Given the description of an element on the screen output the (x, y) to click on. 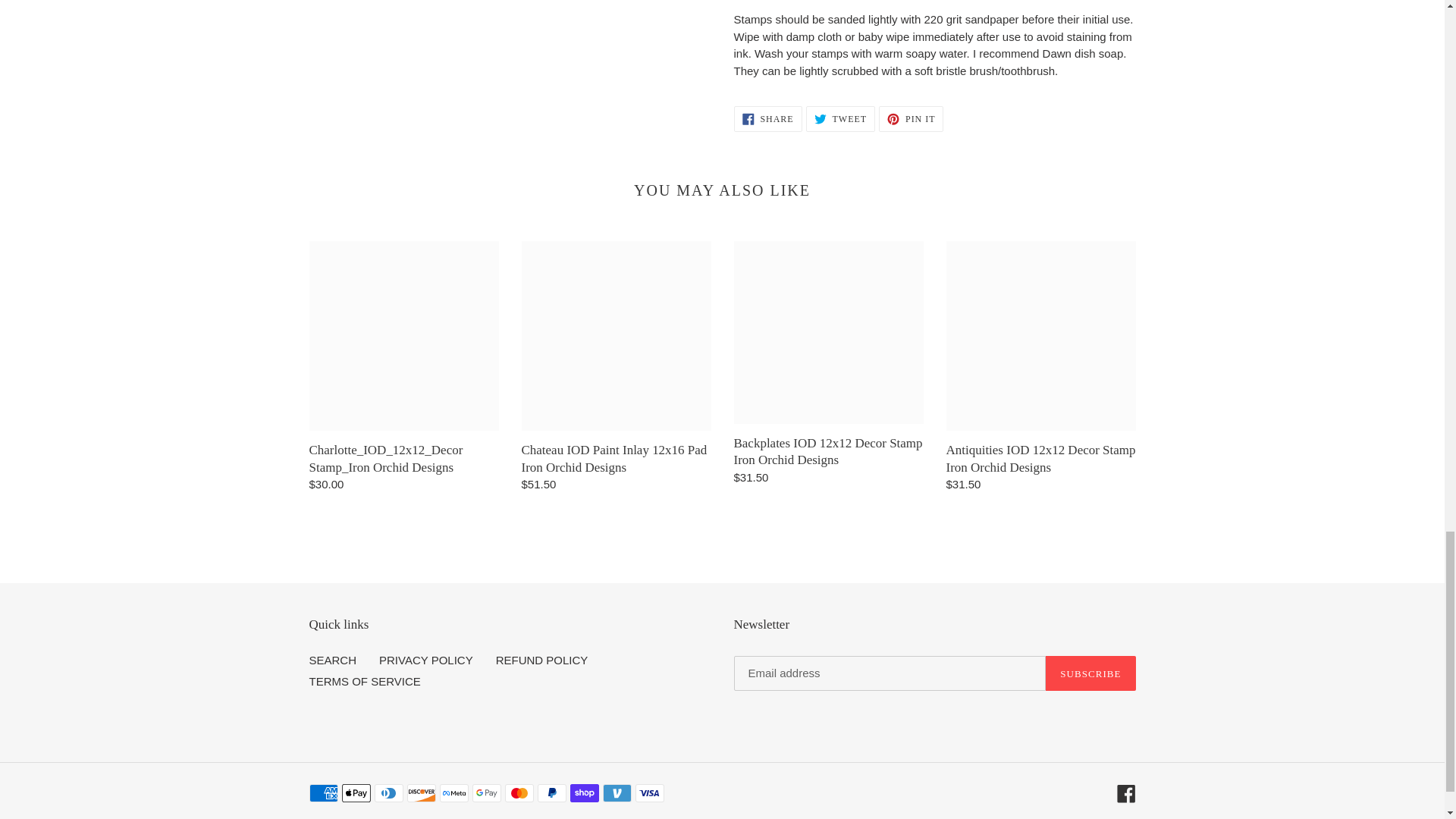
PRIVACY POLICY (767, 118)
SEARCH (425, 659)
REFUND POLICY (332, 659)
Facebook (542, 659)
SUBSCRIBE (1125, 793)
TERMS OF SERVICE (1090, 673)
